Given the description of an element on the screen output the (x, y) to click on. 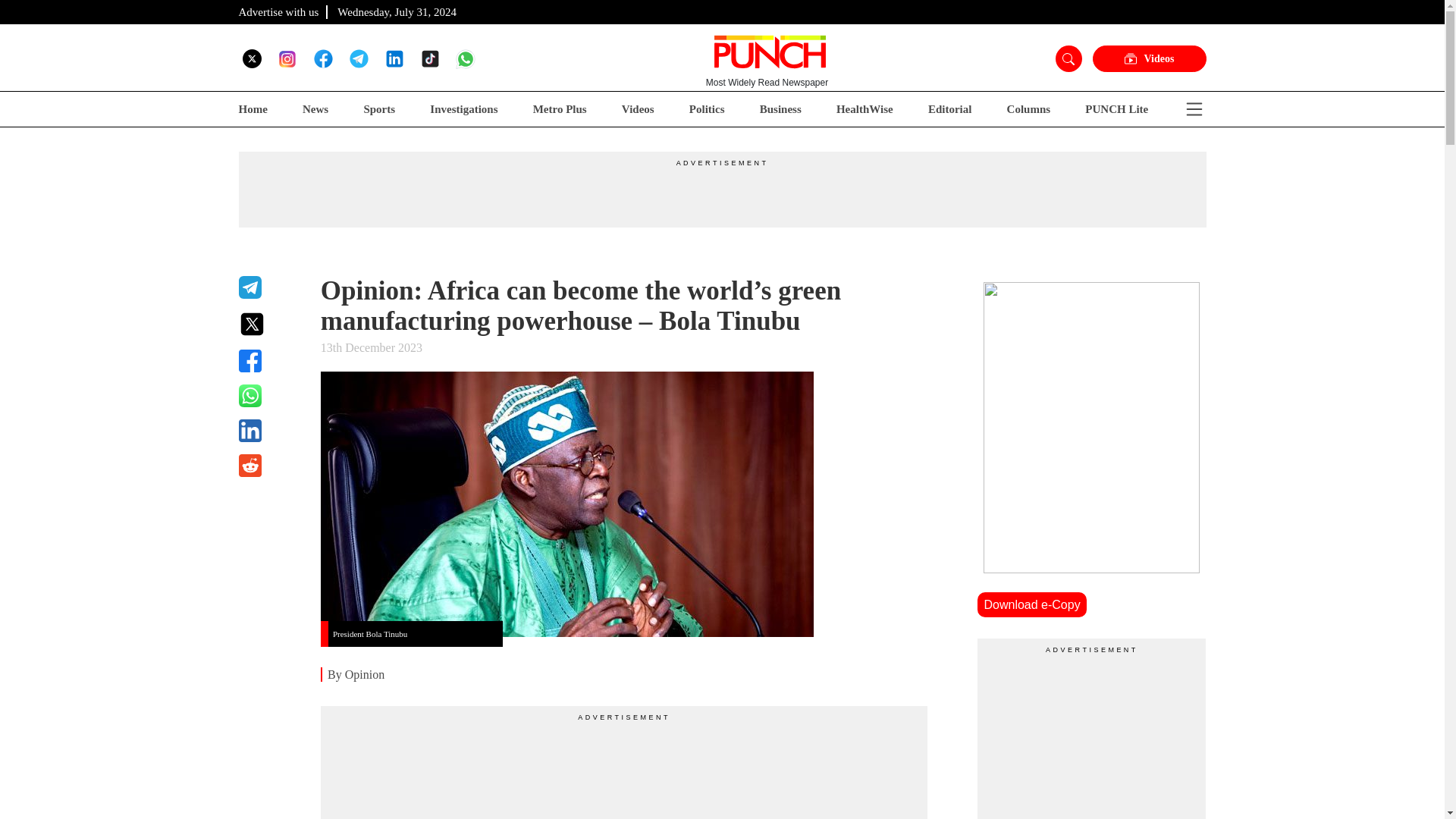
Home (252, 109)
Follow us on Linkedin (395, 58)
Investigations (463, 109)
Follow Us on Instagram (287, 58)
PUNCH Lite (1116, 109)
Wednesday, July 31, 2024 (397, 11)
Columns (1029, 109)
Business (781, 109)
Follow Us on Facebook (323, 58)
Videos (637, 109)
News (315, 109)
Advertise with us (278, 11)
Editorial (950, 109)
Share on Telegram (269, 287)
Follow us on our Whatsapp Channel (465, 57)
